Given the description of an element on the screen output the (x, y) to click on. 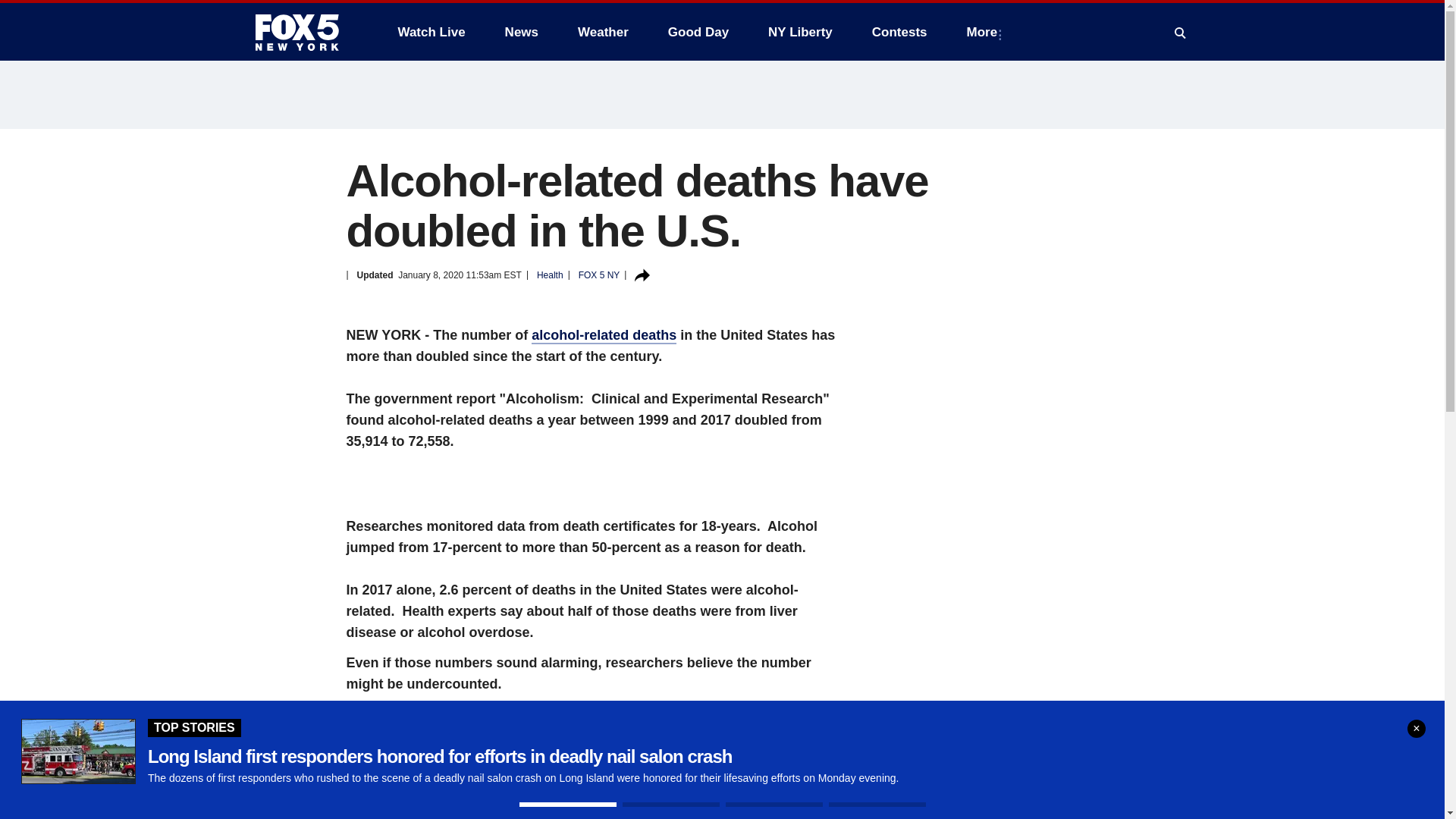
Contests (899, 32)
News (521, 32)
Good Day (698, 32)
NY Liberty (799, 32)
Weather (603, 32)
More (985, 32)
Watch Live (431, 32)
